Given the description of an element on the screen output the (x, y) to click on. 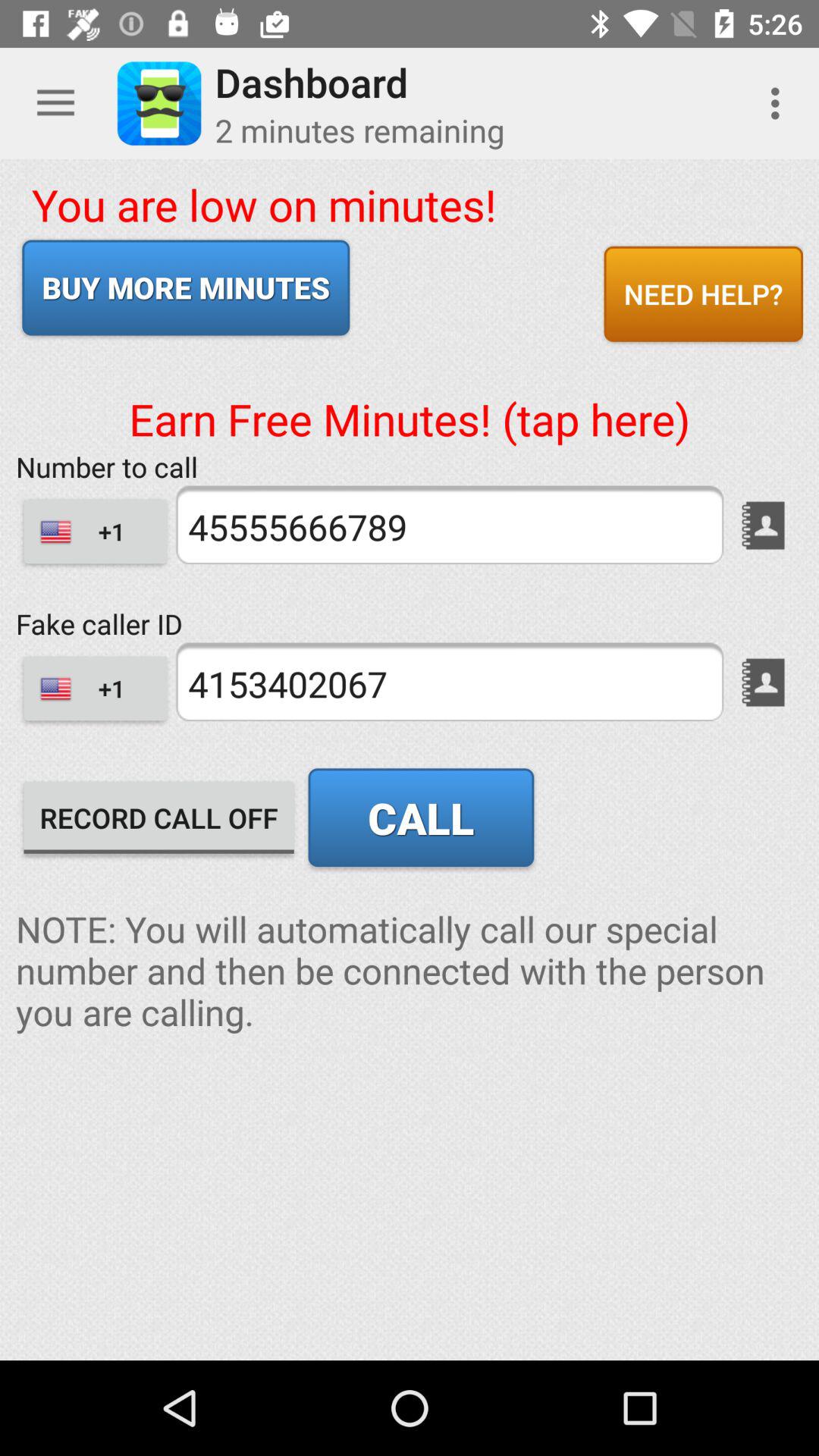
scroll to the need help? icon (703, 293)
